Given the description of an element on the screen output the (x, y) to click on. 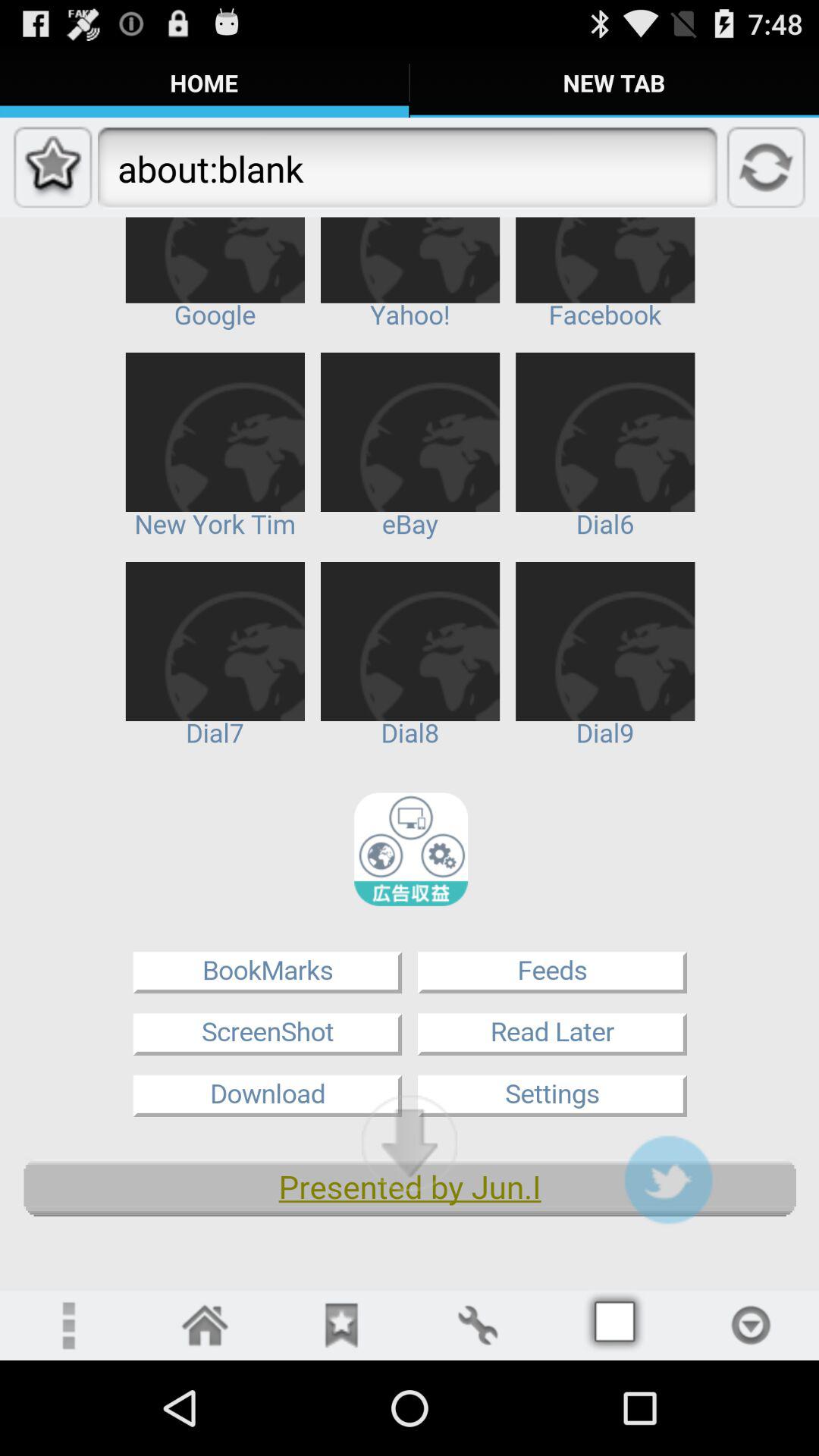
down arrow (409, 1142)
